Given the description of an element on the screen output the (x, y) to click on. 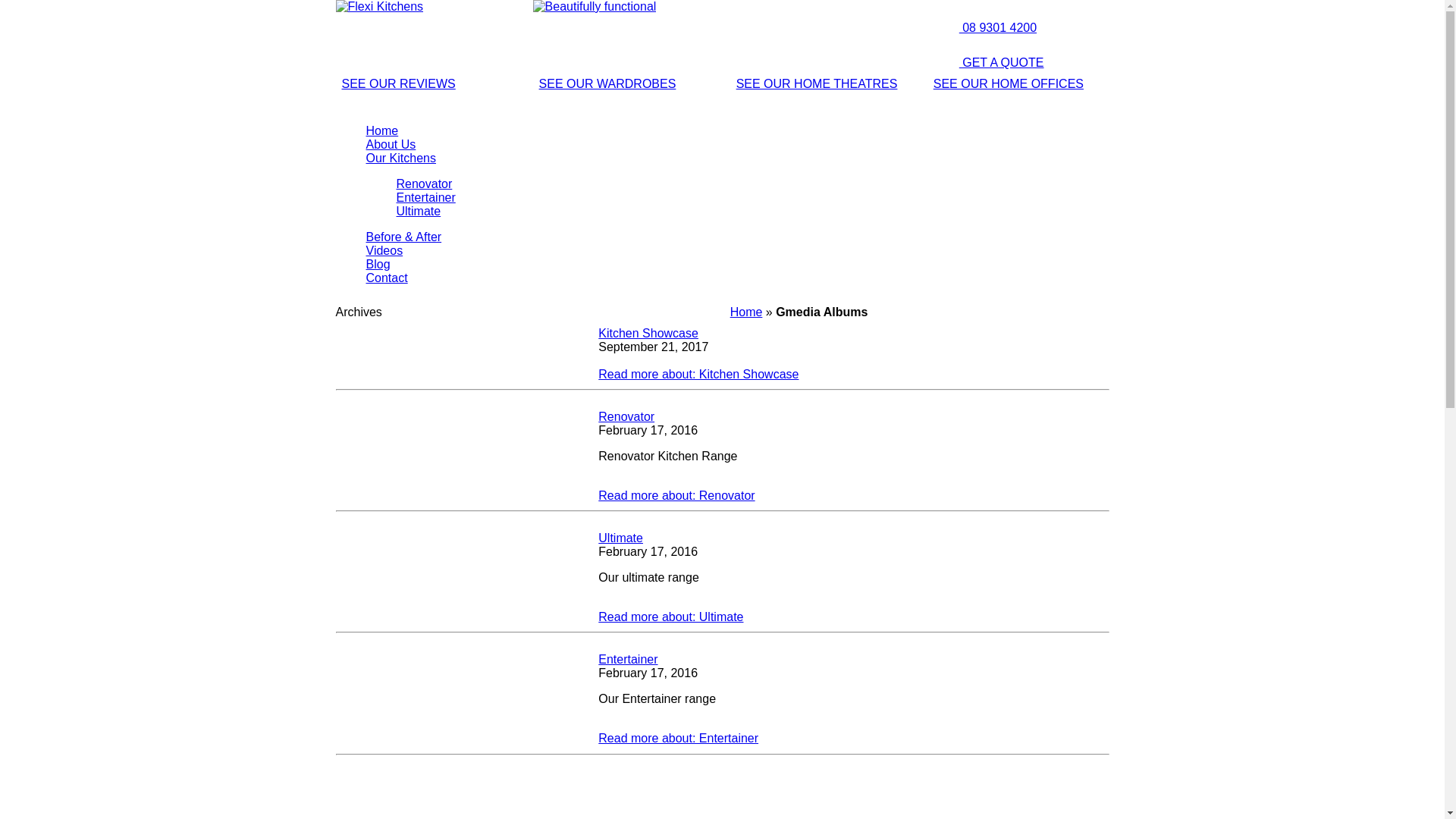
Renovator Element type: text (423, 183)
Home Element type: text (381, 130)
Entertainer Element type: text (425, 197)
Read more about: Entertainer Element type: text (678, 737)
Before & After Element type: text (403, 236)
Ultimate Element type: text (417, 210)
08 9301 4200 Element type: text (981, 27)
Renovator Element type: text (626, 416)
Read more about: Kitchen Showcase Element type: text (698, 373)
Entertainer Element type: text (627, 658)
SEE OUR HOME OFFICES Element type: text (1008, 83)
GET A QUOTE Element type: text (985, 62)
SEE OUR REVIEWS Element type: text (398, 83)
Our Kitchens Element type: text (400, 157)
Blog Element type: text (377, 263)
Contact Element type: text (386, 277)
Ultimate Element type: text (620, 537)
SEE OUR WARDROBES Element type: text (607, 83)
About Us Element type: text (390, 144)
Read more about: Renovator Element type: text (676, 495)
Home Element type: text (746, 311)
Videos Element type: text (383, 250)
SEE OUR HOME THEATRES Element type: text (816, 83)
Kitchen Showcase Element type: text (648, 332)
Read more about: Ultimate Element type: text (670, 616)
